Given the description of an element on the screen output the (x, y) to click on. 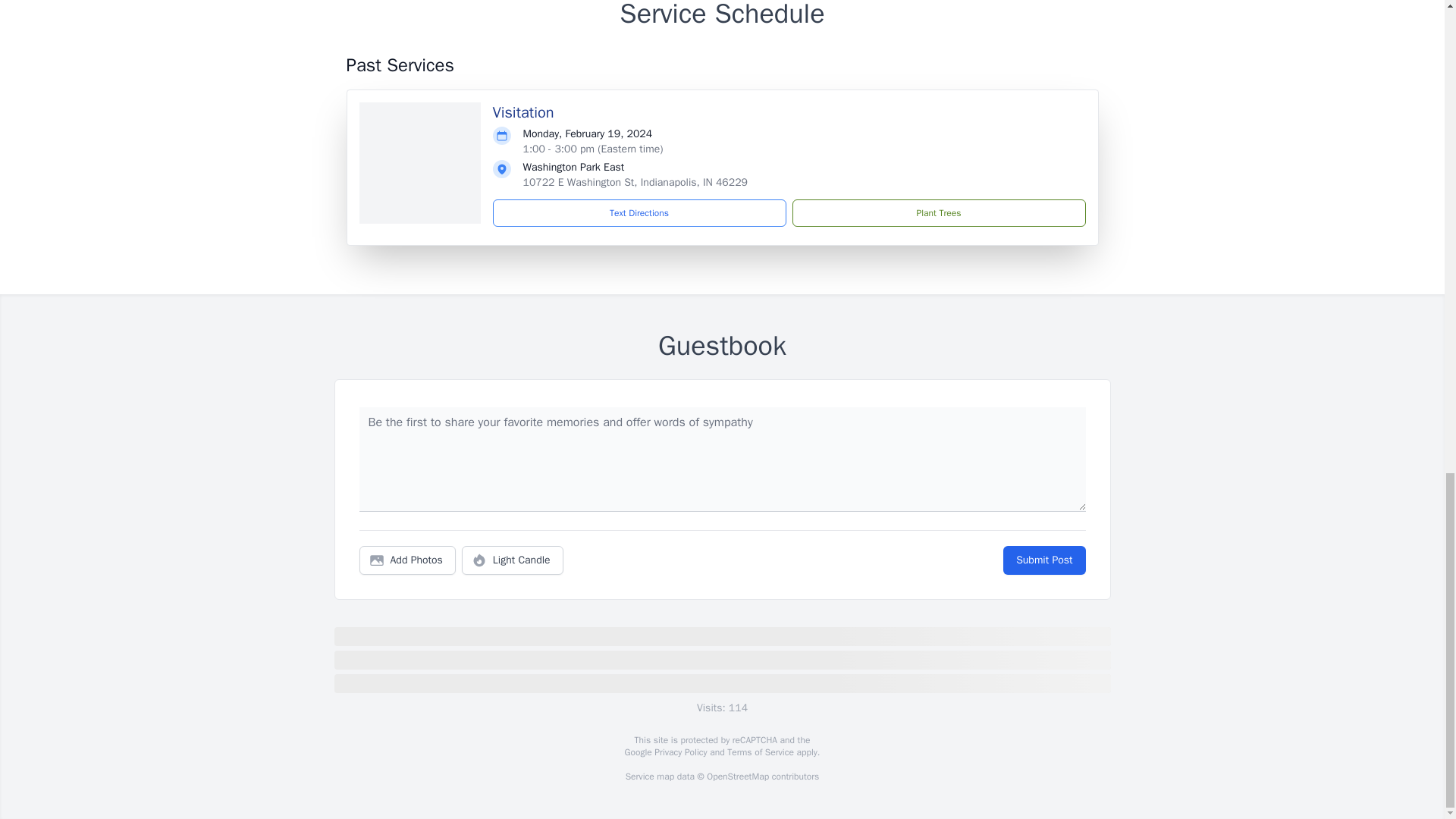
10722 E Washington St, Indianapolis, IN 46229 (635, 182)
Light Candle (512, 560)
Add Photos (407, 560)
Terms of Service (759, 752)
Text Directions (639, 212)
OpenStreetMap (737, 776)
Plant Trees (938, 212)
Privacy Policy (679, 752)
Submit Post (1043, 560)
